Given the description of an element on the screen output the (x, y) to click on. 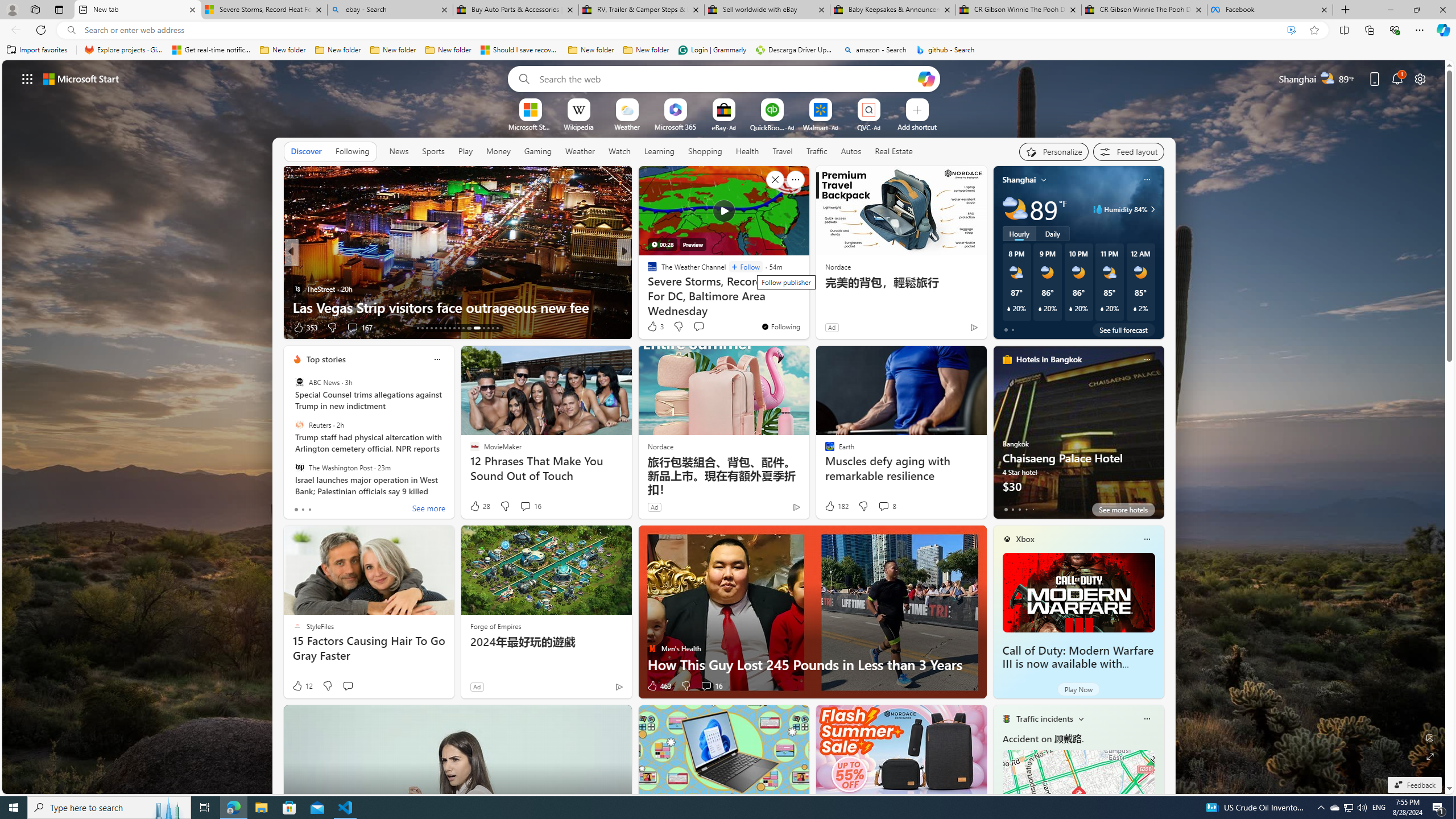
Athletes That Died Far Too Young (807, 307)
Add a site (916, 126)
Expand background (1430, 756)
28 Like (479, 505)
Favorites bar (728, 49)
Sell worldwide with eBay (766, 9)
12 Like (301, 685)
More Options (886, 101)
Las Vegas Strip visitors face outrageous new fee (457, 307)
AutomationID: tab-13 (417, 328)
Microsoft start (81, 78)
